Given the description of an element on the screen output the (x, y) to click on. 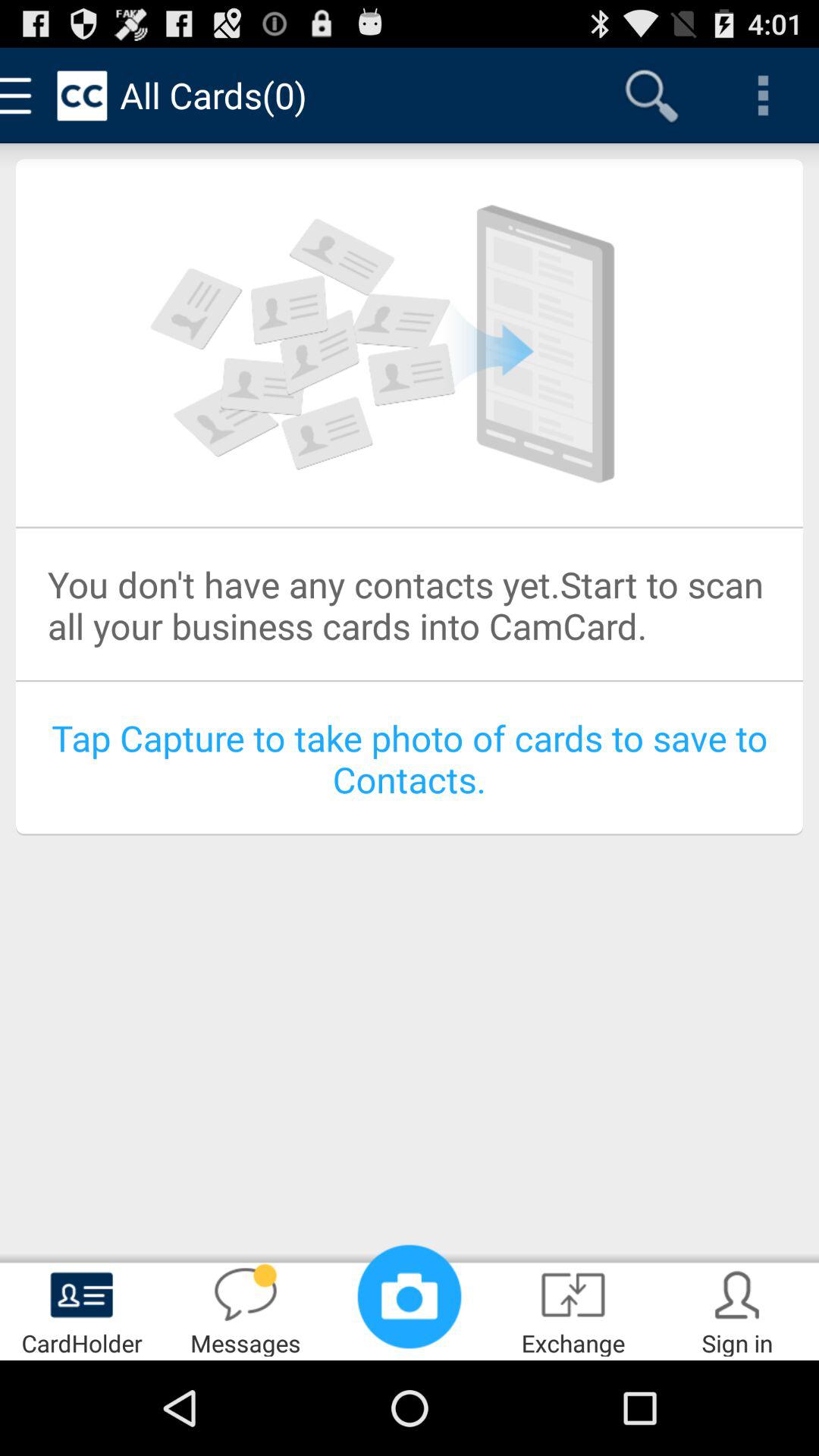
turn on app next to exchange (737, 1309)
